Given the description of an element on the screen output the (x, y) to click on. 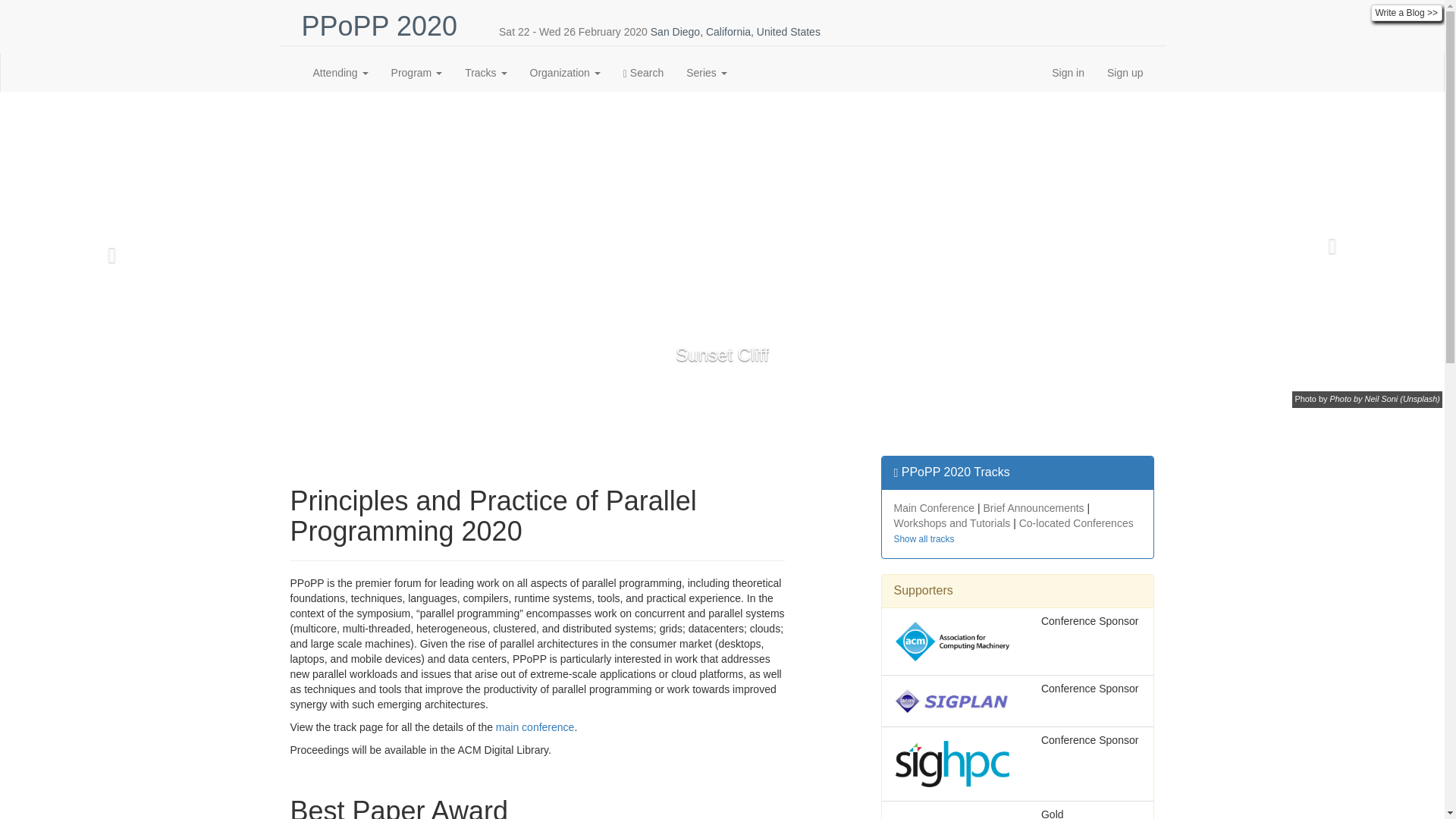
Tracks (485, 72)
Search (643, 72)
Organization (564, 72)
Attending (340, 72)
Program (417, 72)
Series (706, 72)
San Diego, California, United States (735, 31)
PPoPP 2020 (378, 26)
